Given the description of an element on the screen output the (x, y) to click on. 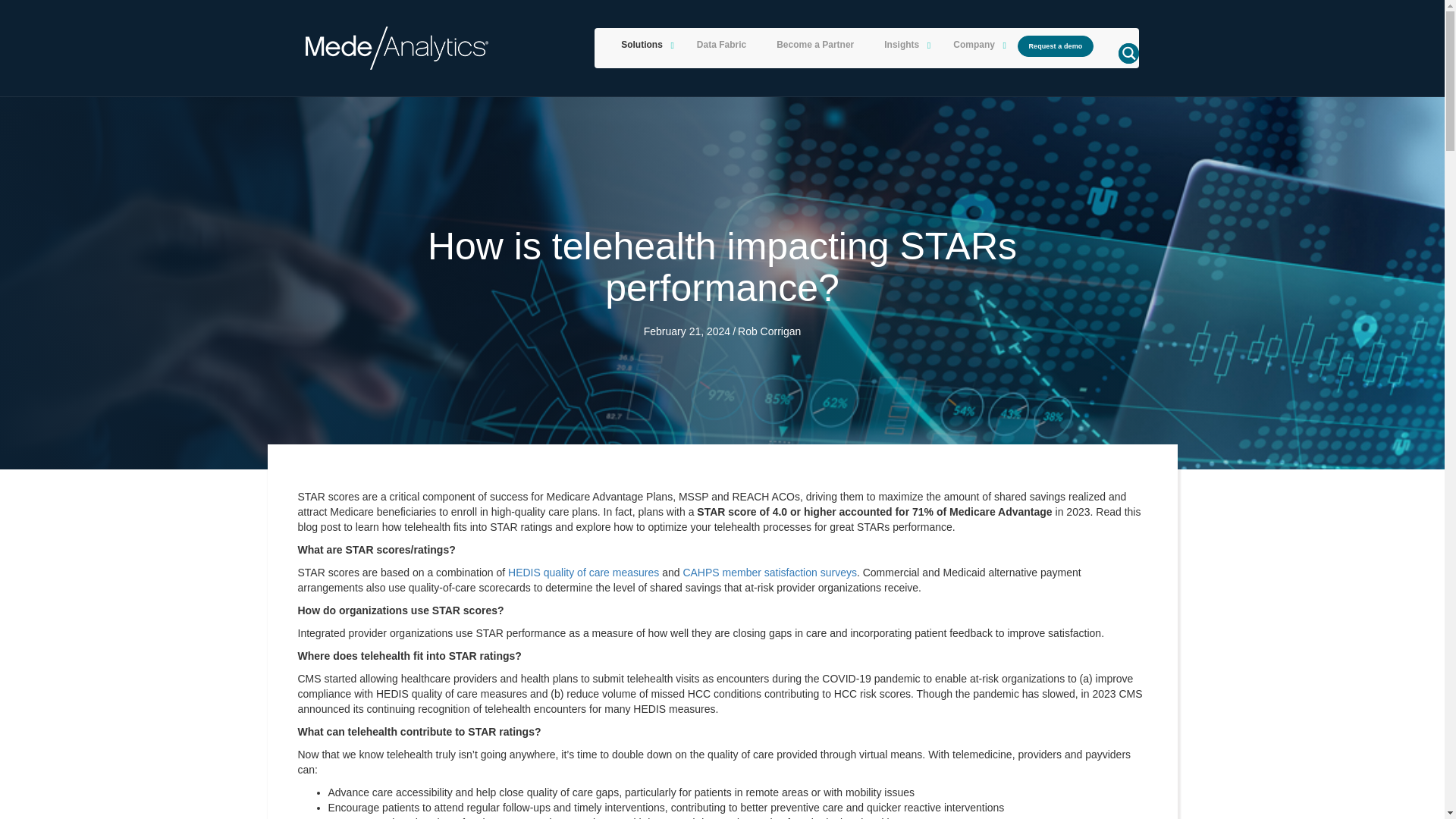
Social-logo-linkedin (360, 715)
Data Fabric (721, 45)
Insights (903, 45)
Become a Partner (815, 45)
Social-logo-facebook (319, 715)
Click Here (1055, 46)
